Given the description of an element on the screen output the (x, y) to click on. 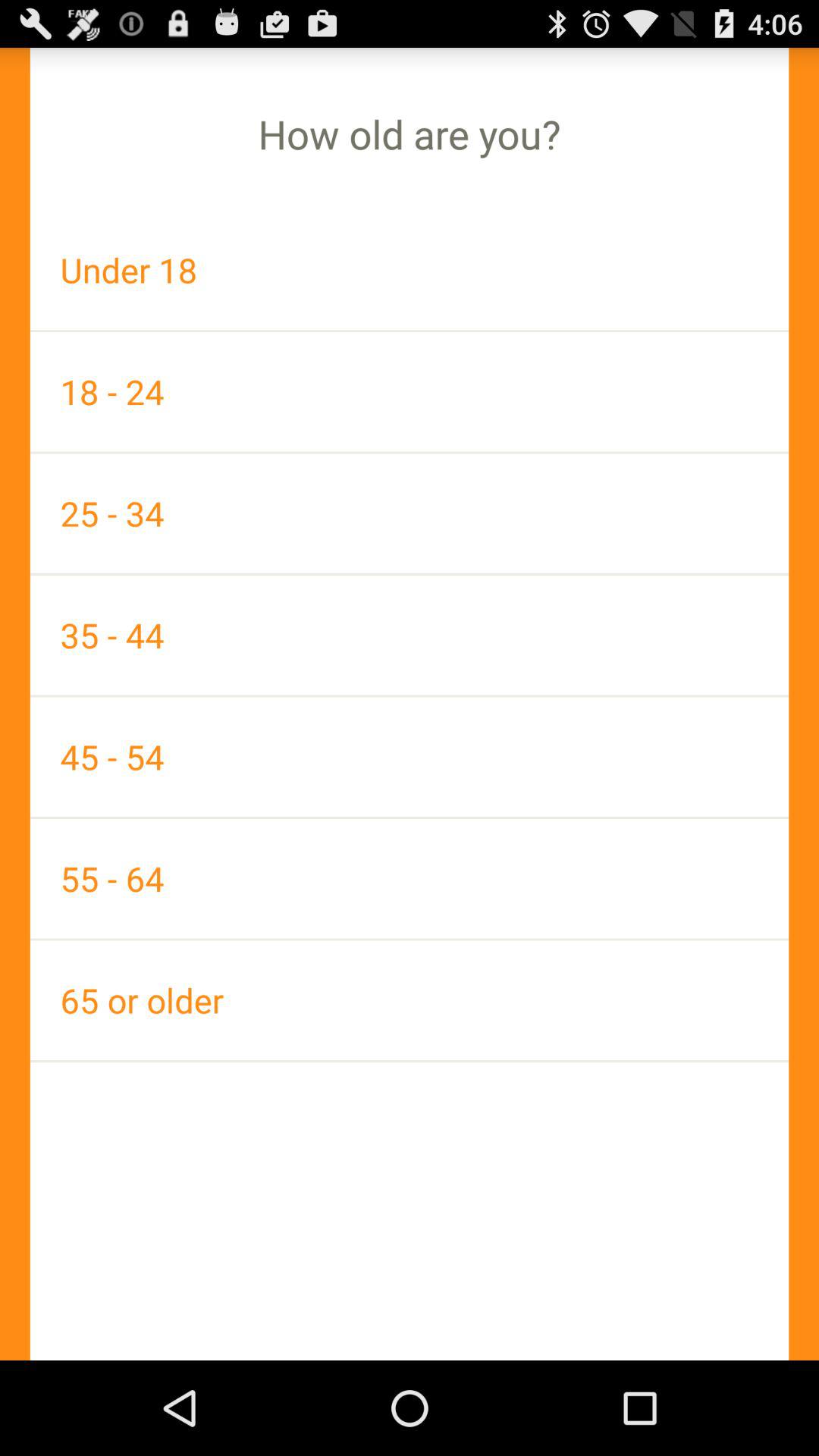
turn on the 25 - 34 app (409, 513)
